Given the description of an element on the screen output the (x, y) to click on. 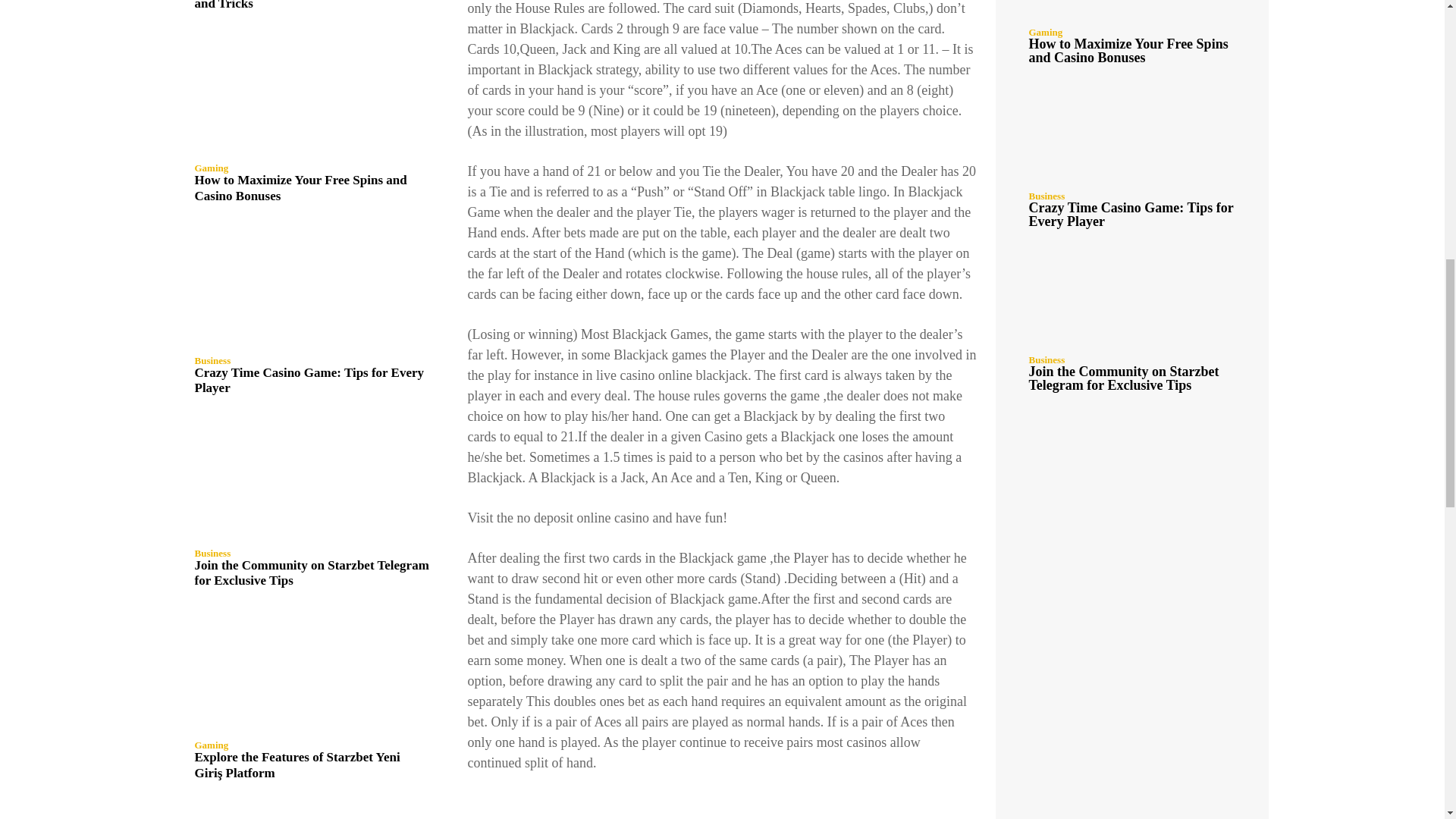
Finding the Right LoL Boost Service: Tips and Tricks (309, 4)
